Given the description of an element on the screen output the (x, y) to click on. 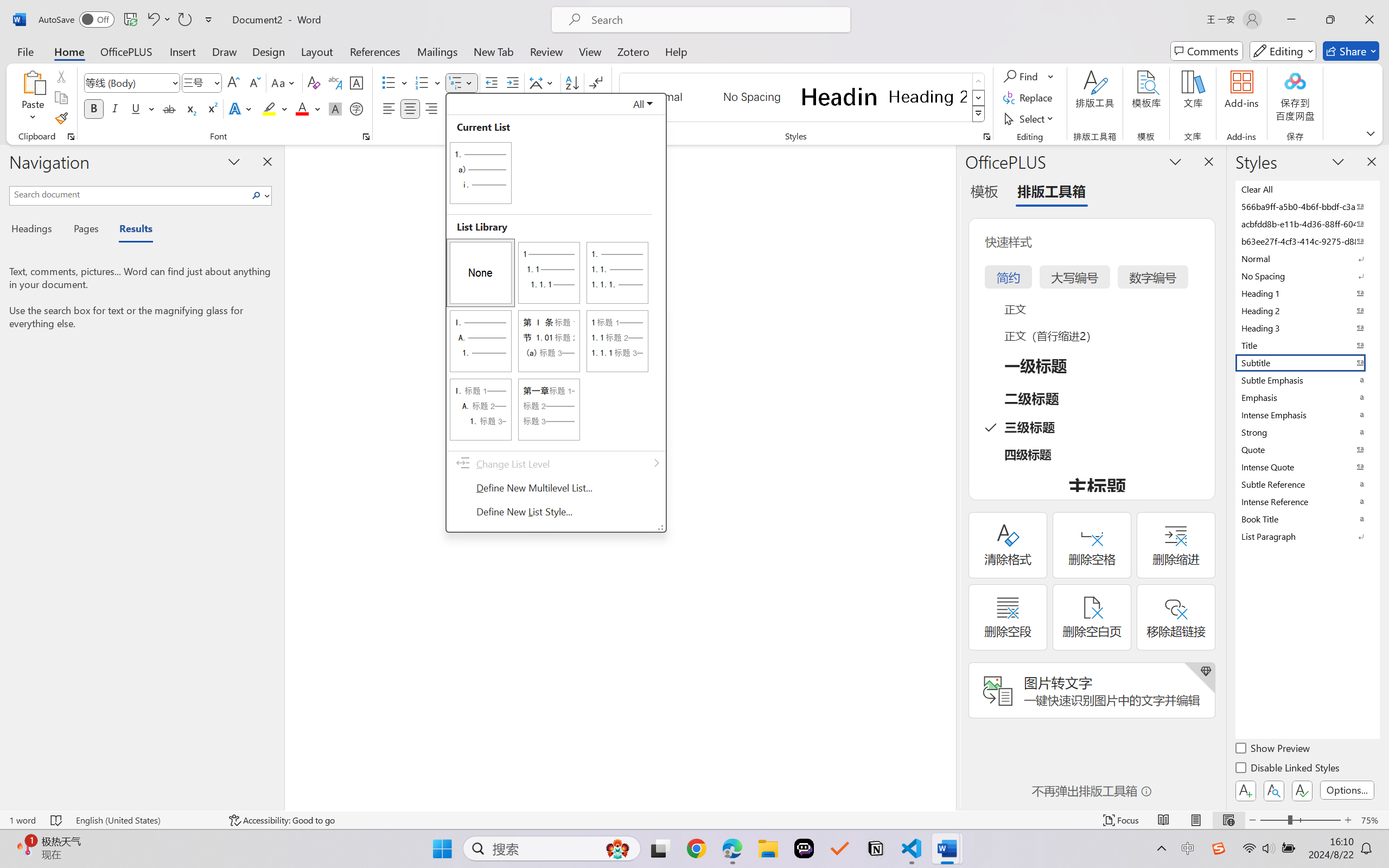
Undo Style (158, 19)
Search (256, 195)
Subscript (190, 108)
Home (69, 51)
Zotero (632, 51)
Phonetic Guide... (334, 82)
OfficePLUS (126, 51)
Web Layout (1228, 819)
Save (130, 19)
